Given the description of an element on the screen output the (x, y) to click on. 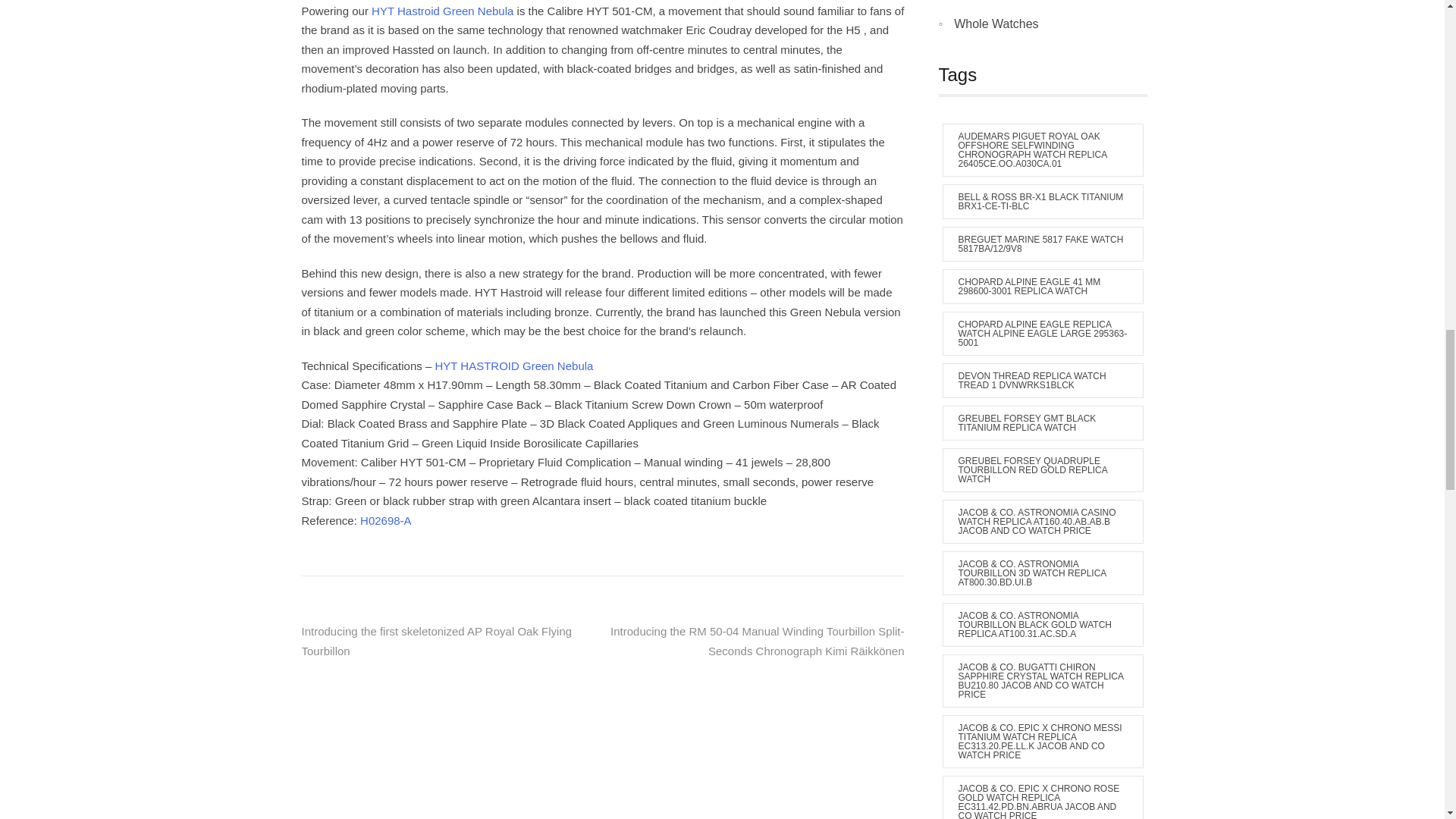
H02698-A (385, 520)
HYT Hastroid Green Nebula (442, 10)
HYT HASTROID Green Nebula (512, 365)
